Given the description of an element on the screen output the (x, y) to click on. 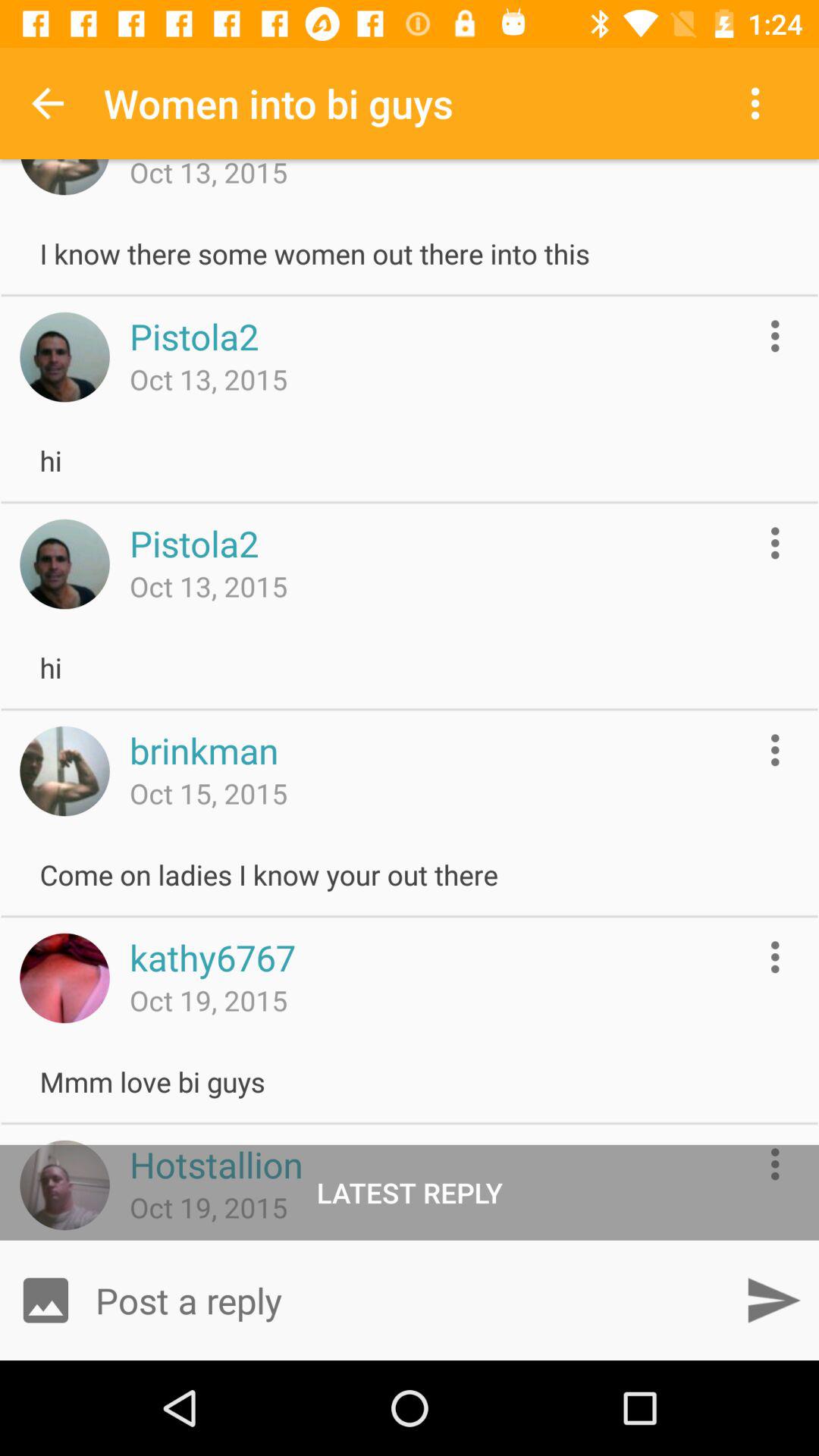
send button (773, 1300)
